Given the description of an element on the screen output the (x, y) to click on. 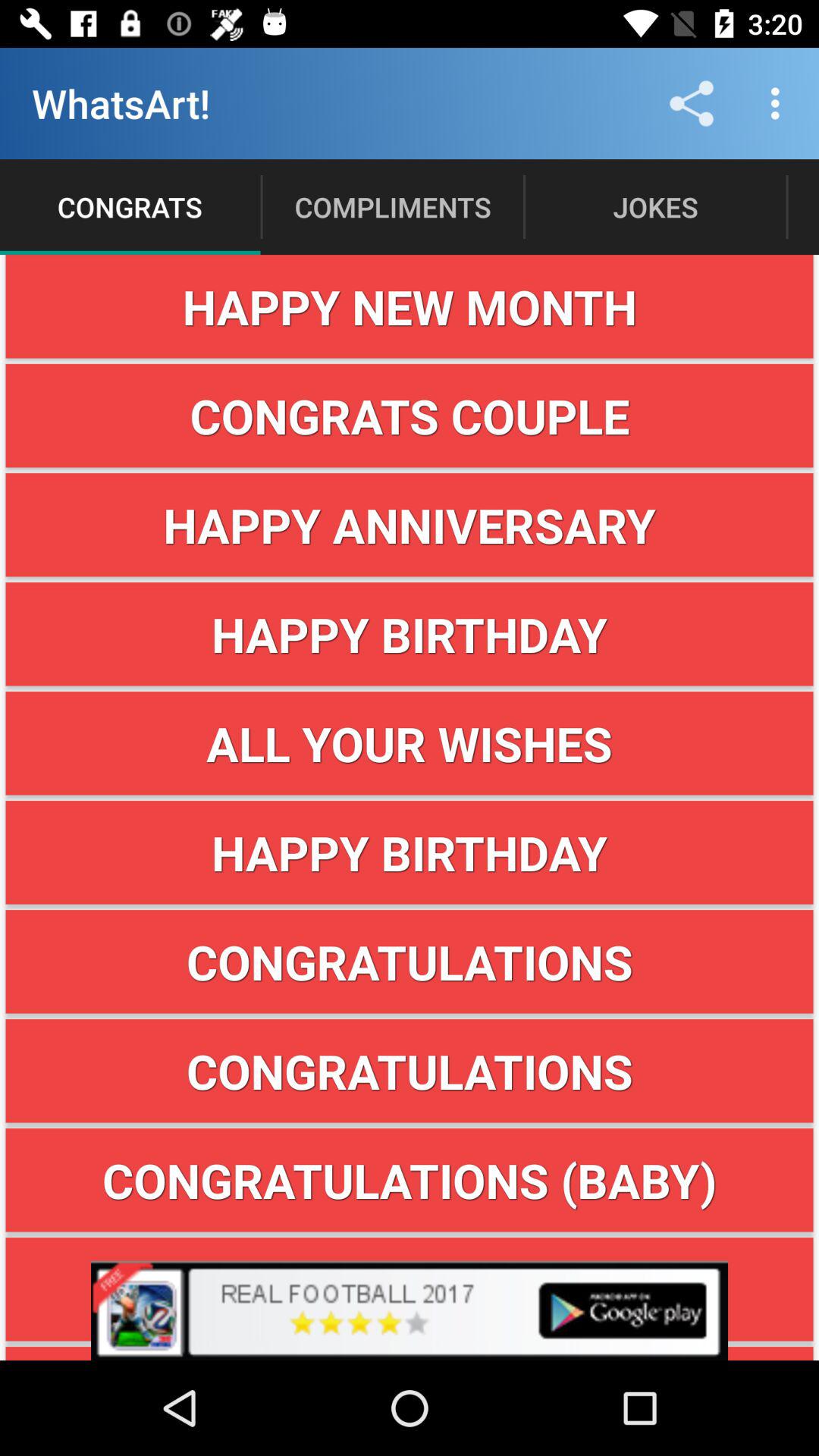
turn off icon below the congratulations (baby) button (409, 1310)
